Given the description of an element on the screen output the (x, y) to click on. 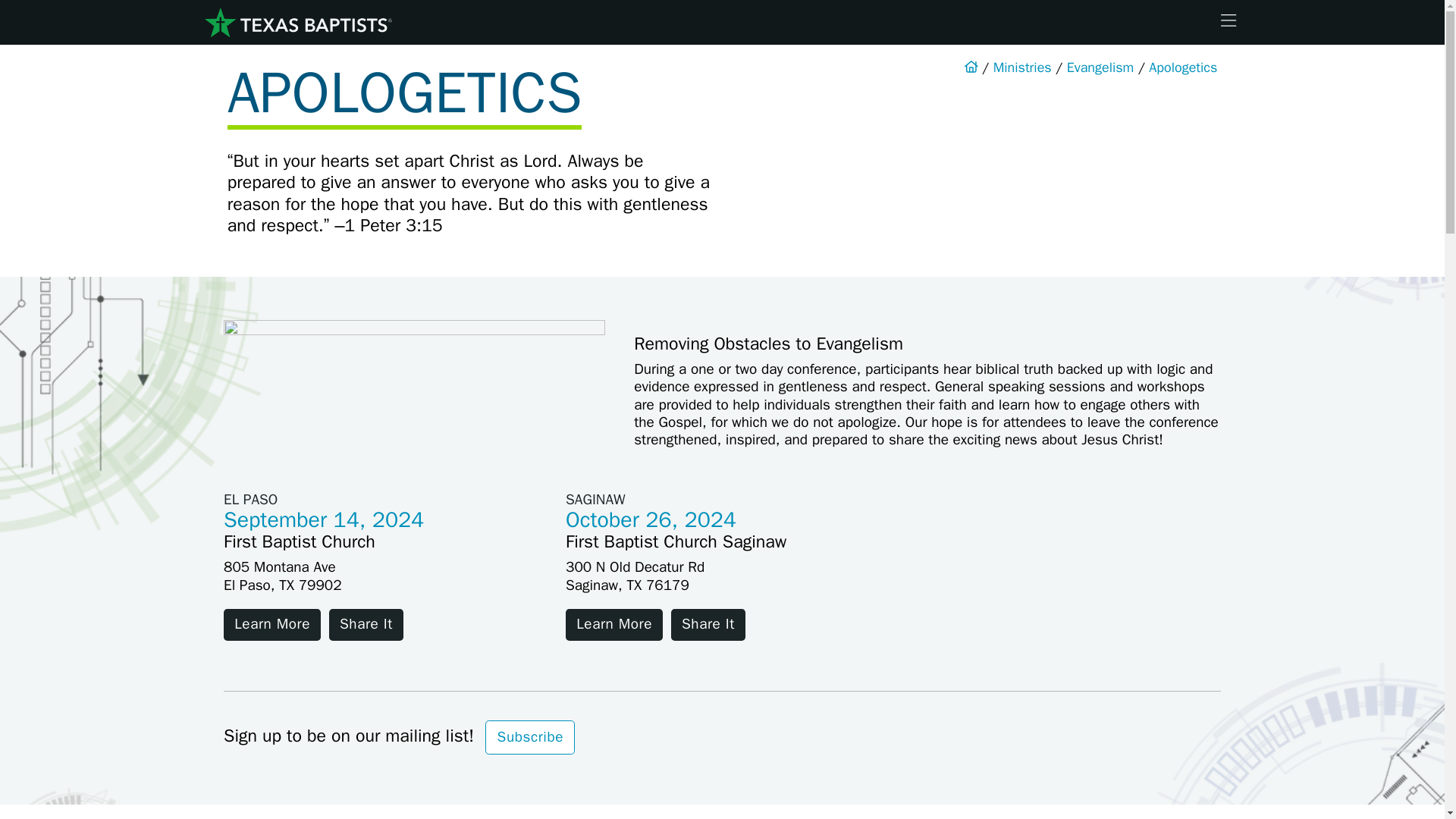
Learn More (272, 624)
Subscribe (529, 736)
Apologetics (1182, 67)
Evangelism (1100, 67)
Apologetics (1182, 67)
Ministries (1021, 67)
Share It (366, 624)
Learn More (614, 624)
Home (297, 22)
Share It (708, 624)
Ministries (1021, 67)
Evangelism (1100, 67)
